Given the description of an element on the screen output the (x, y) to click on. 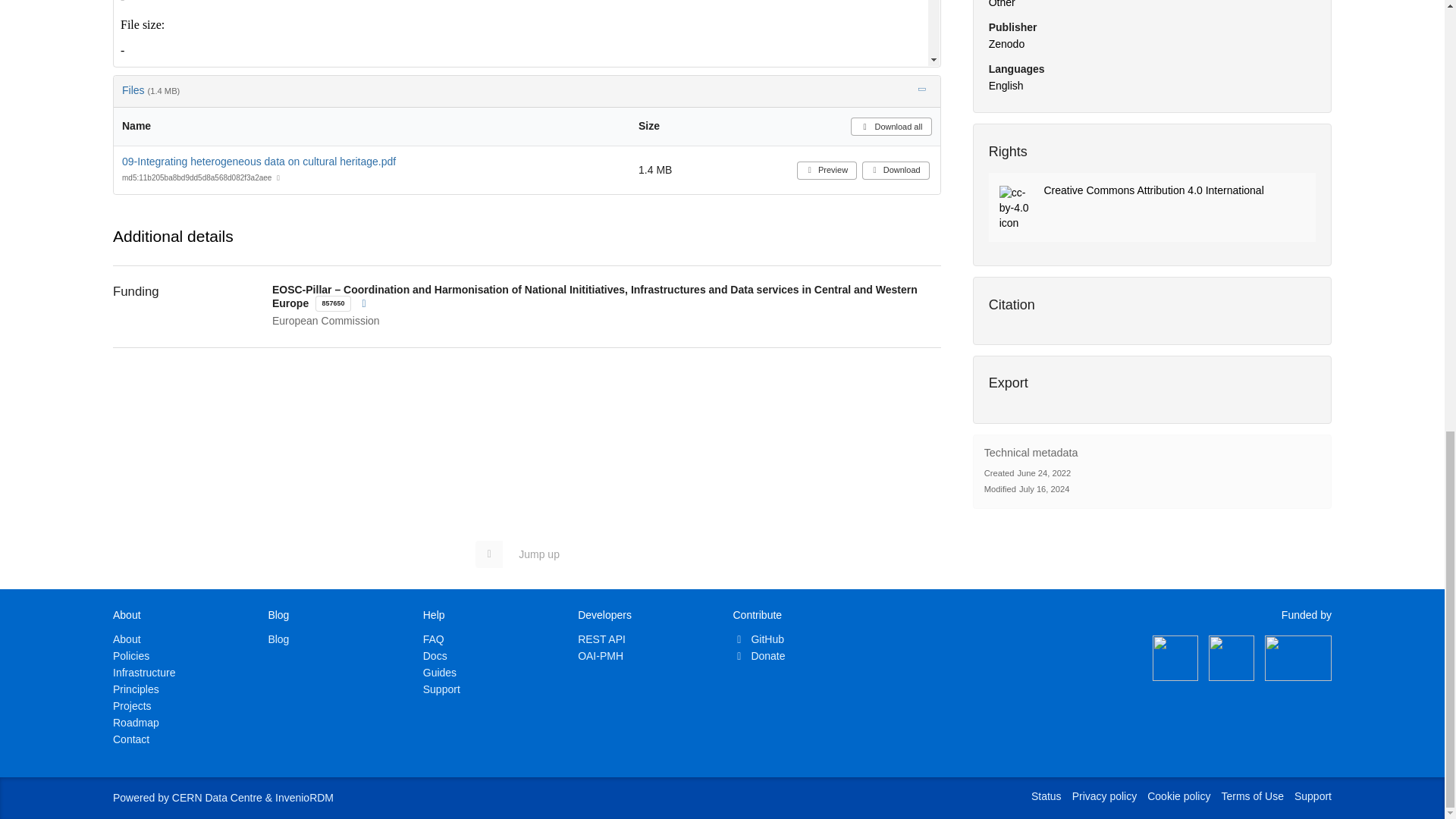
Download (895, 170)
Contact (131, 739)
Infrastructure (143, 672)
Policies (131, 655)
Blog (277, 639)
Roadmap (135, 722)
Preview (527, 33)
Jump up (525, 554)
Preview (826, 170)
Principles (135, 689)
